Given the description of an element on the screen output the (x, y) to click on. 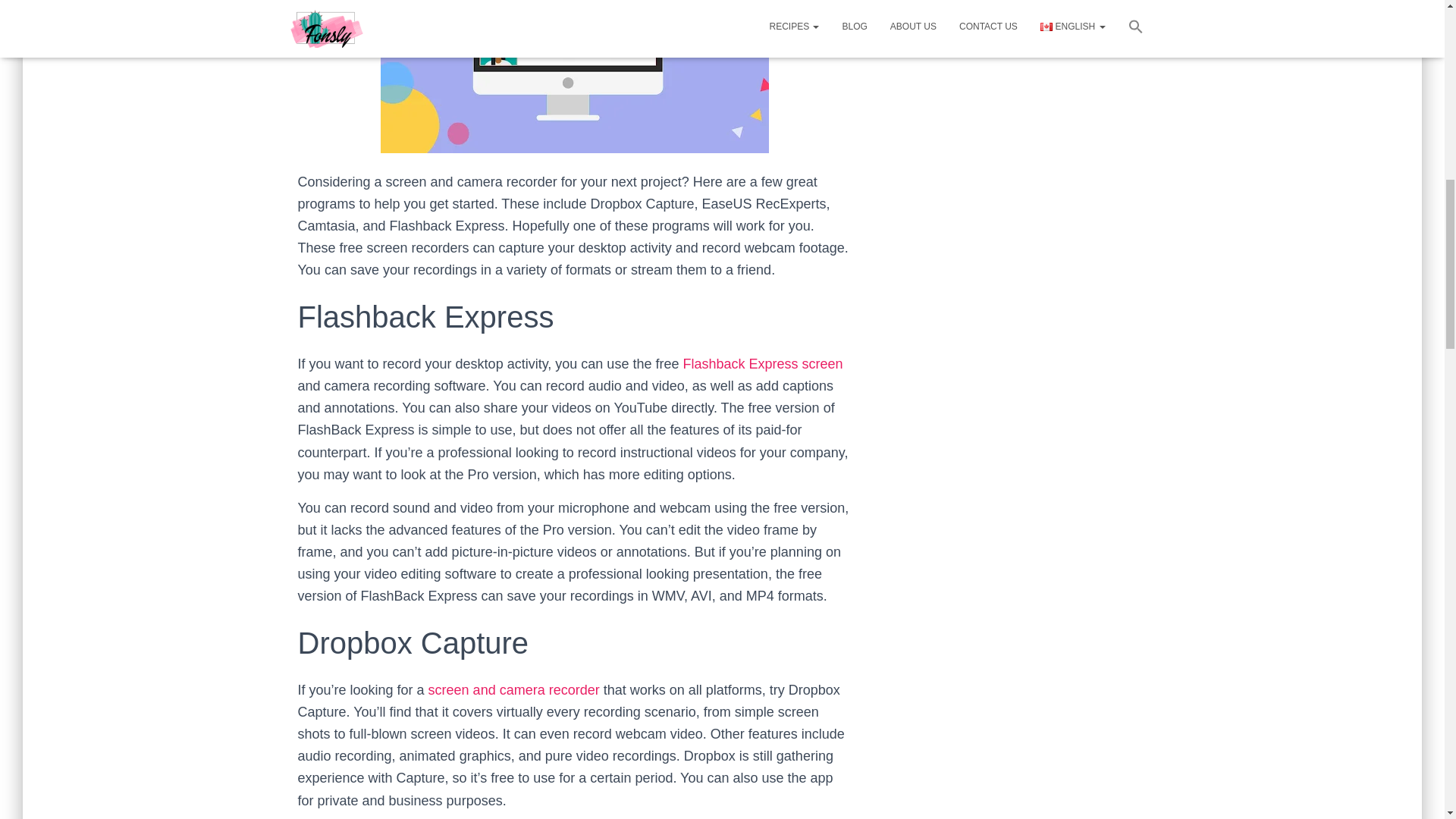
Flashback Express screen (762, 363)
screen and camera recorder (513, 689)
